Given the description of an element on the screen output the (x, y) to click on. 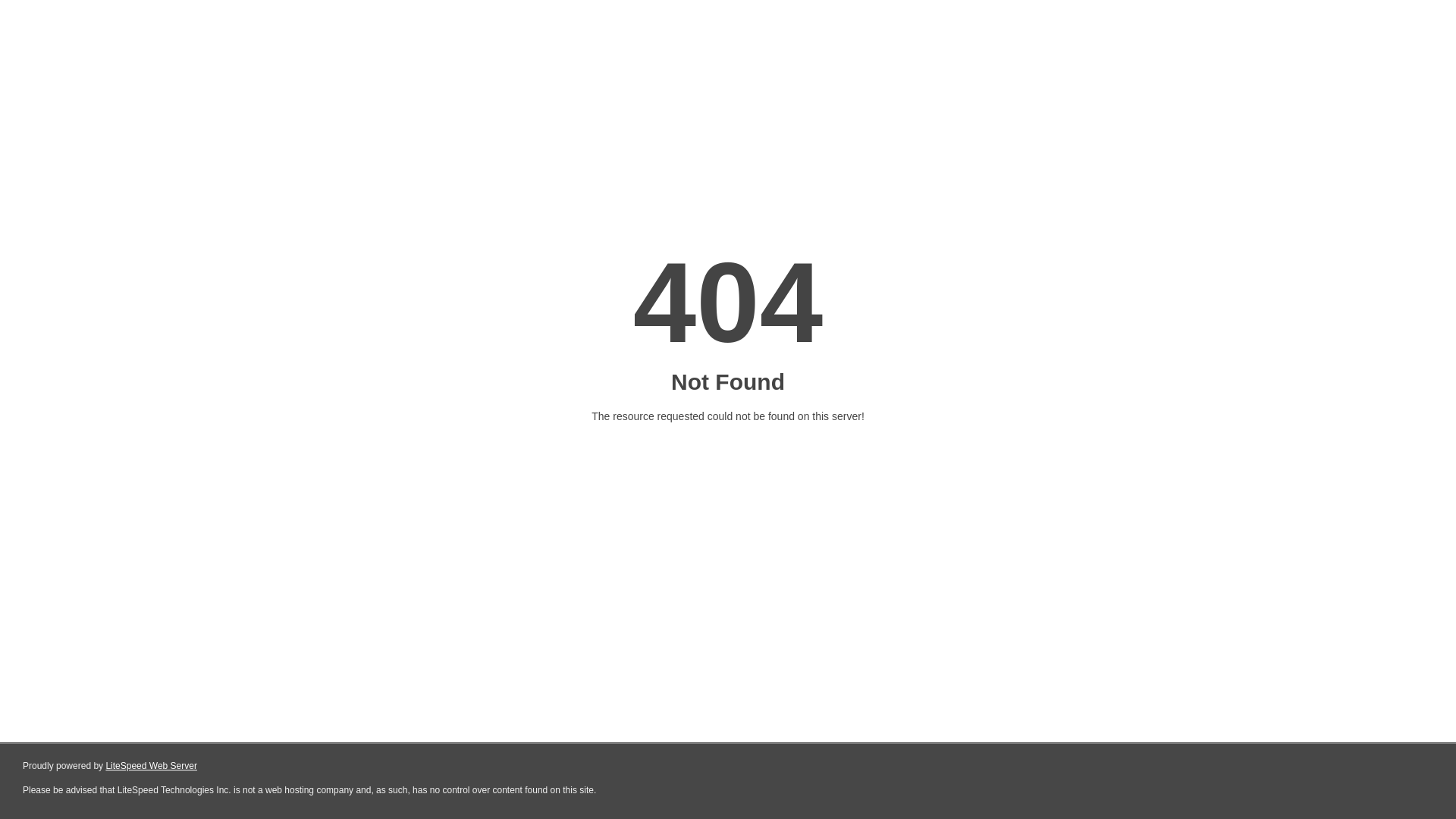
LiteSpeed Web Server Element type: text (151, 765)
